Given the description of an element on the screen output the (x, y) to click on. 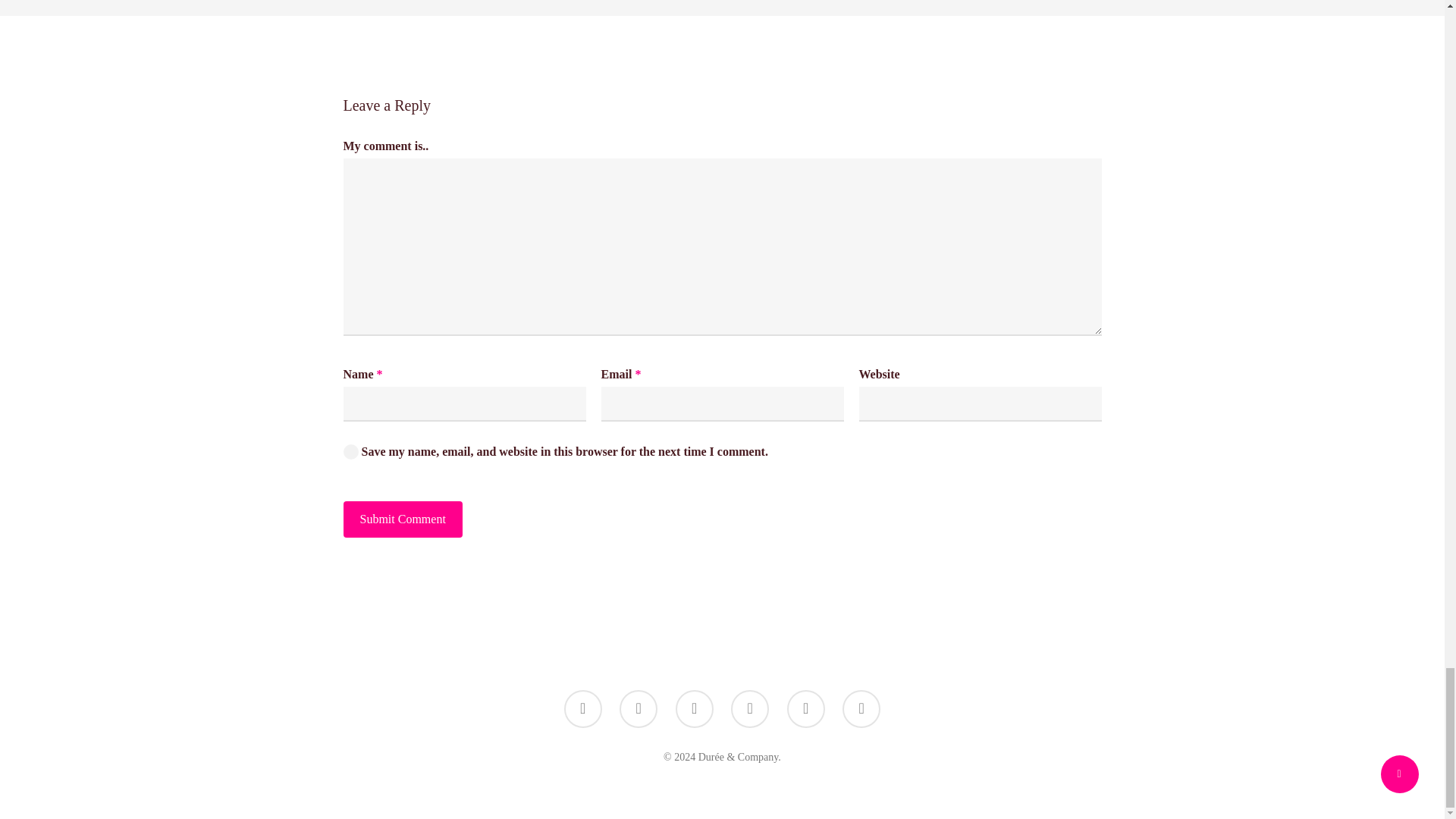
Submit Comment (401, 519)
yes (350, 451)
